Given the description of an element on the screen output the (x, y) to click on. 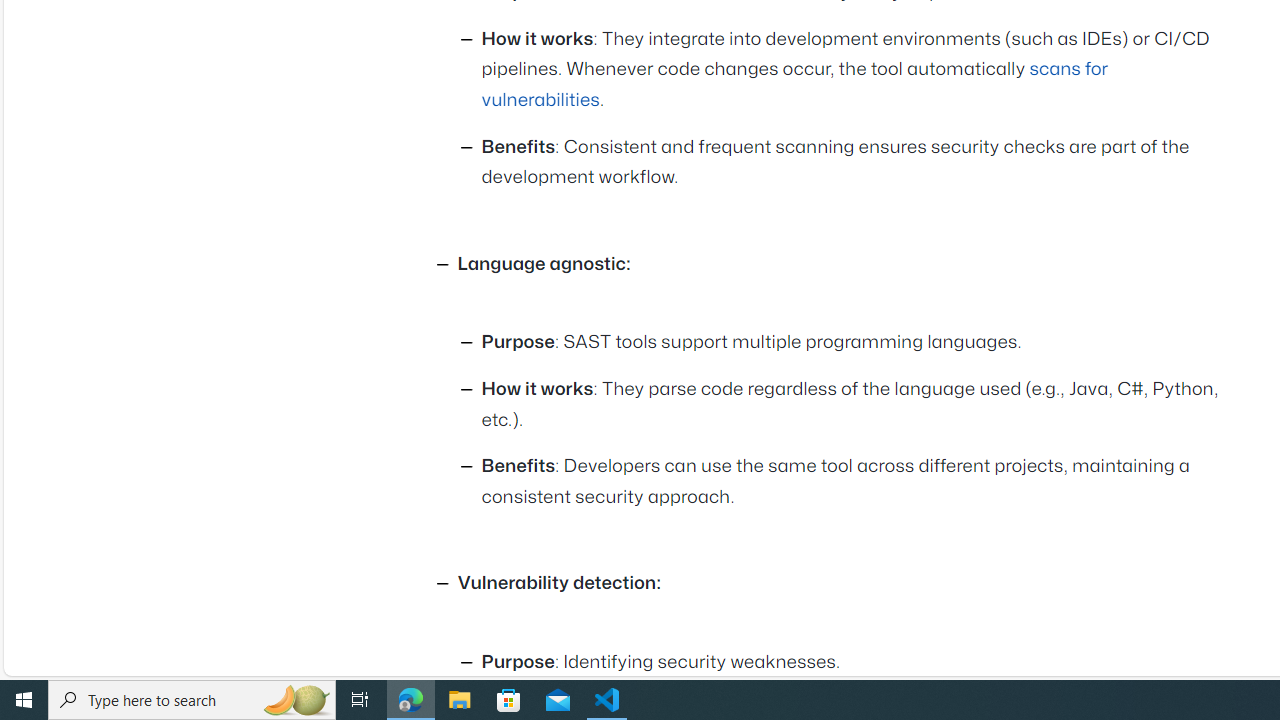
scans for vulnerabilities (794, 84)
Purpose: SAST tools support multiple programming languages. (855, 343)
Purpose: Identifying security weaknesses. (855, 662)
